Given the description of an element on the screen output the (x, y) to click on. 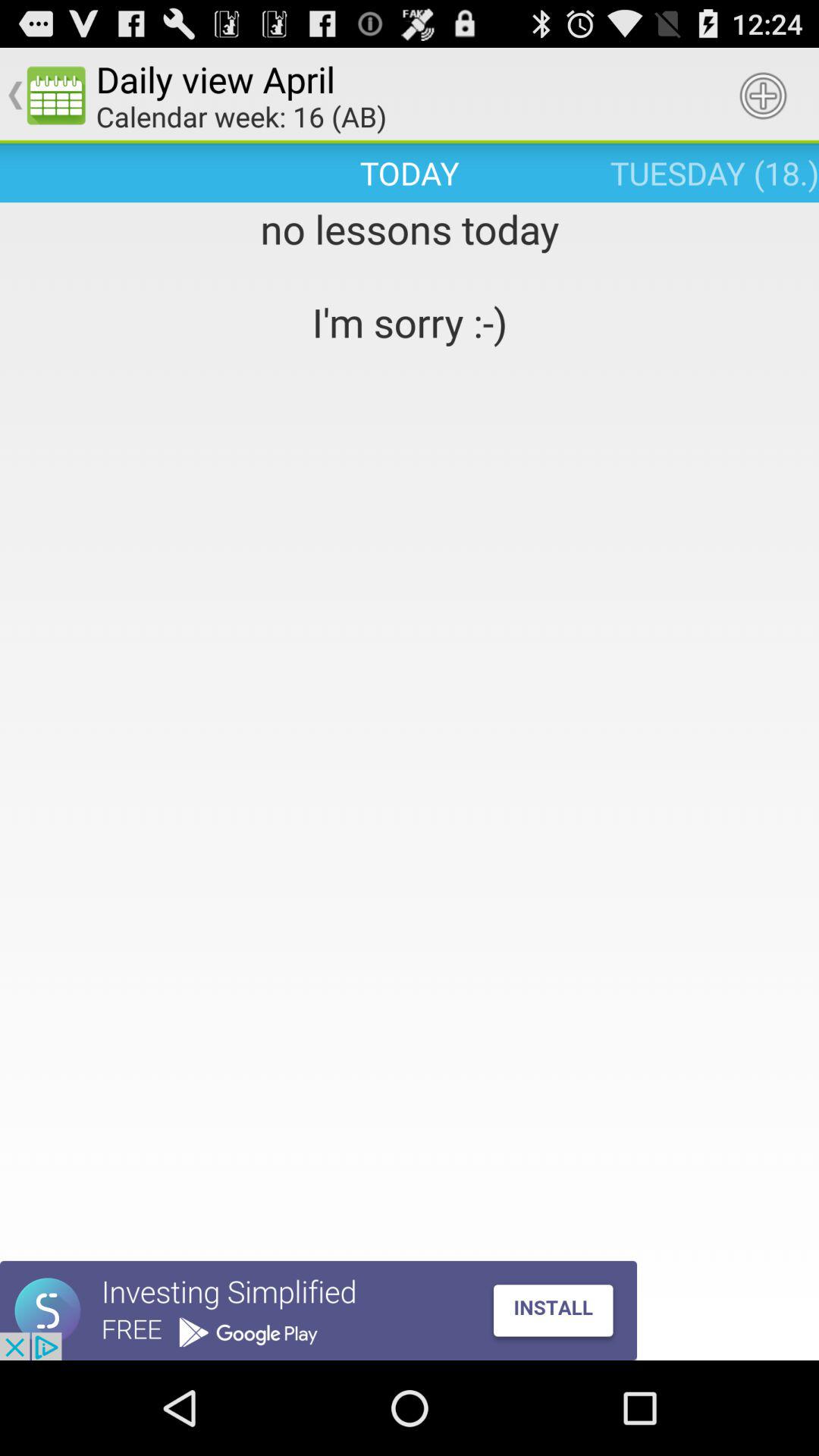
open advertisement (318, 1310)
